Given the description of an element on the screen output the (x, y) to click on. 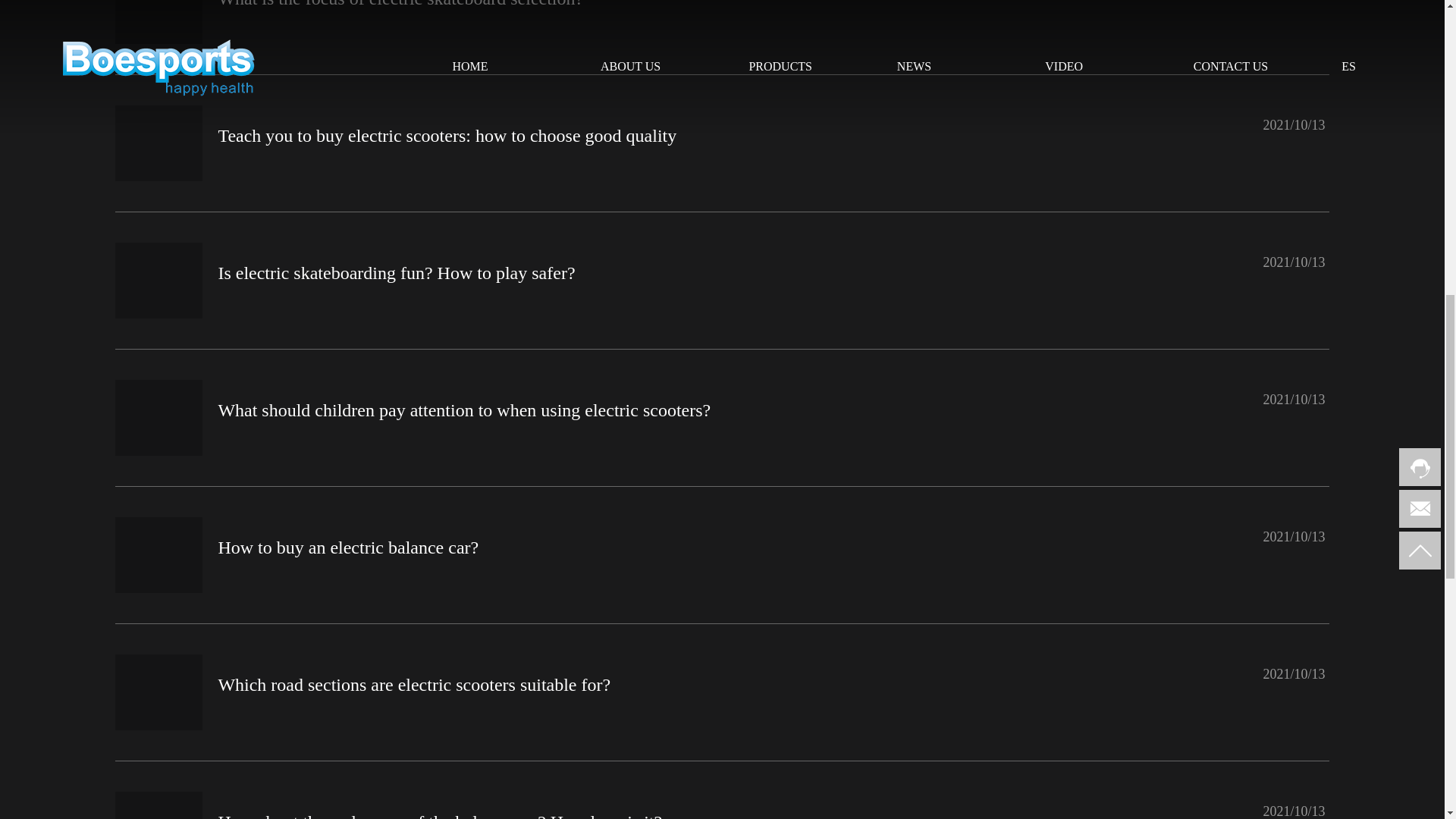
Is (158, 280)
Teach (158, 142)
How (158, 554)
What (158, 22)
How (158, 805)
Which (158, 692)
What (158, 417)
